Given the description of an element on the screen output the (x, y) to click on. 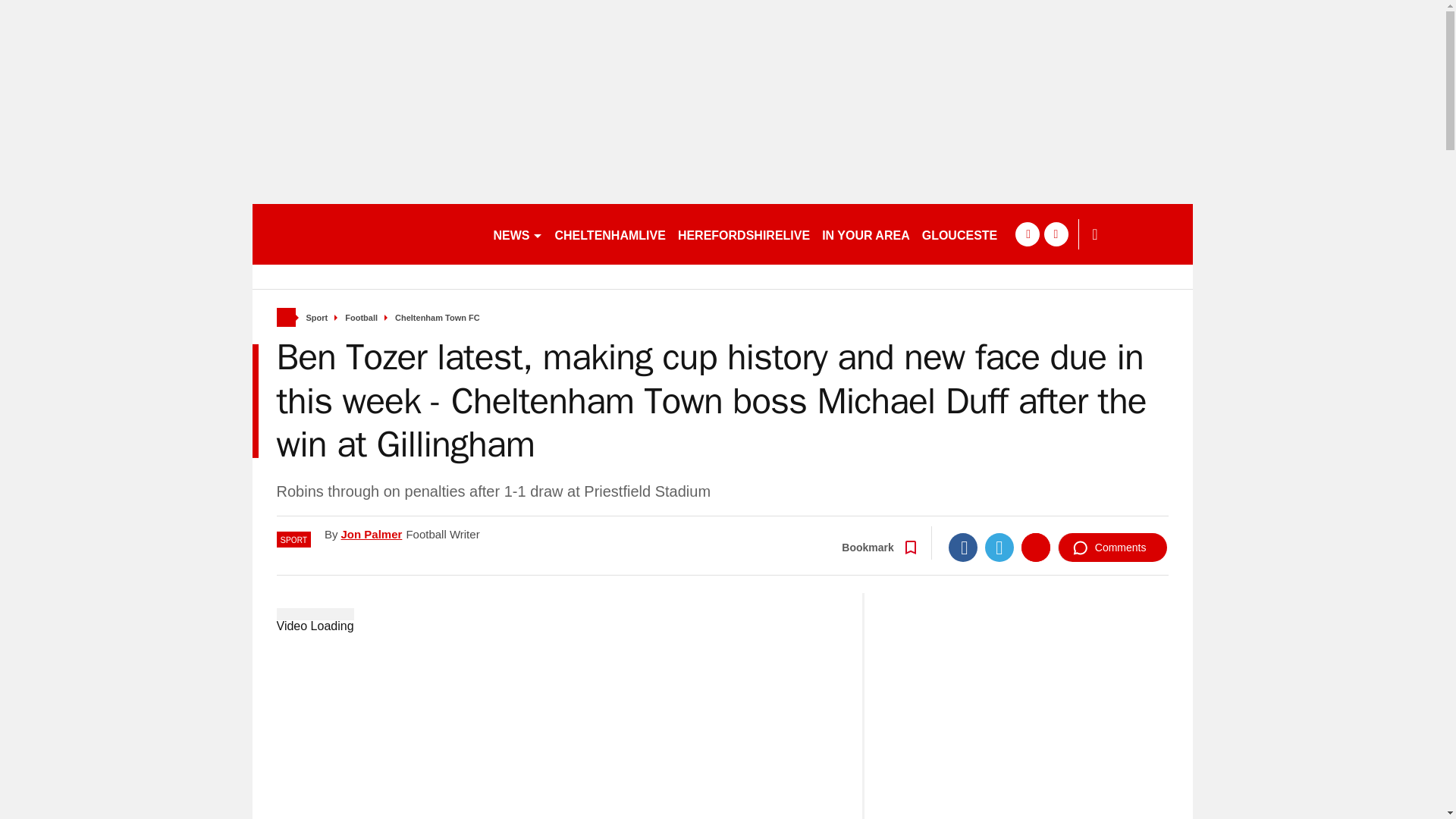
Twitter (999, 547)
twitter (1055, 233)
NEWS (517, 233)
HEREFORDSHIRELIVE (743, 233)
Facebook (962, 547)
CHELTENHAMLIVE (609, 233)
gloucestershirelive (365, 233)
facebook (1026, 233)
IN YOUR AREA (865, 233)
GLOUCESTER NEWS (983, 233)
